Given the description of an element on the screen output the (x, y) to click on. 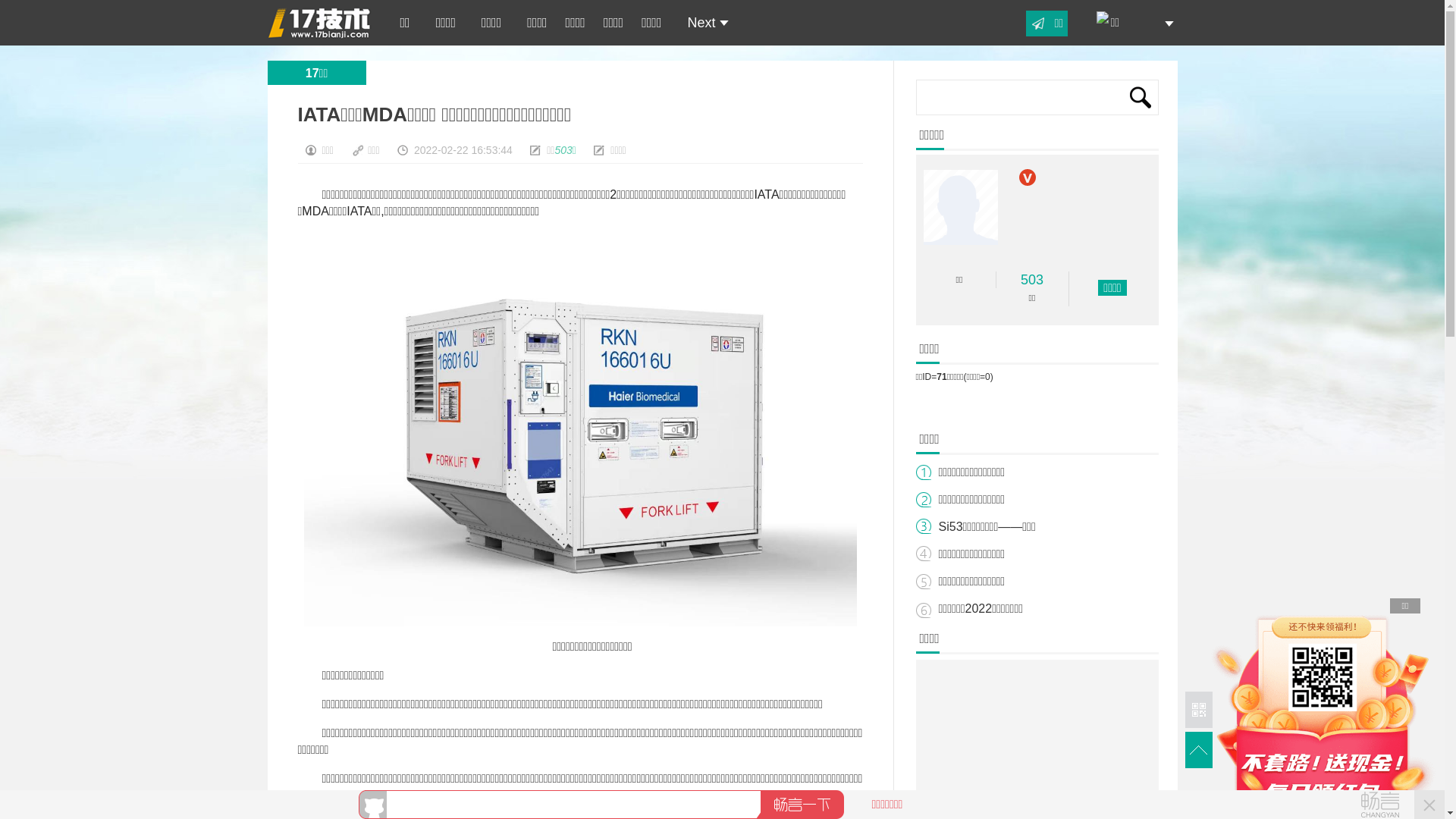
  Next Element type: text (703, 22)
